Given the description of an element on the screen output the (x, y) to click on. 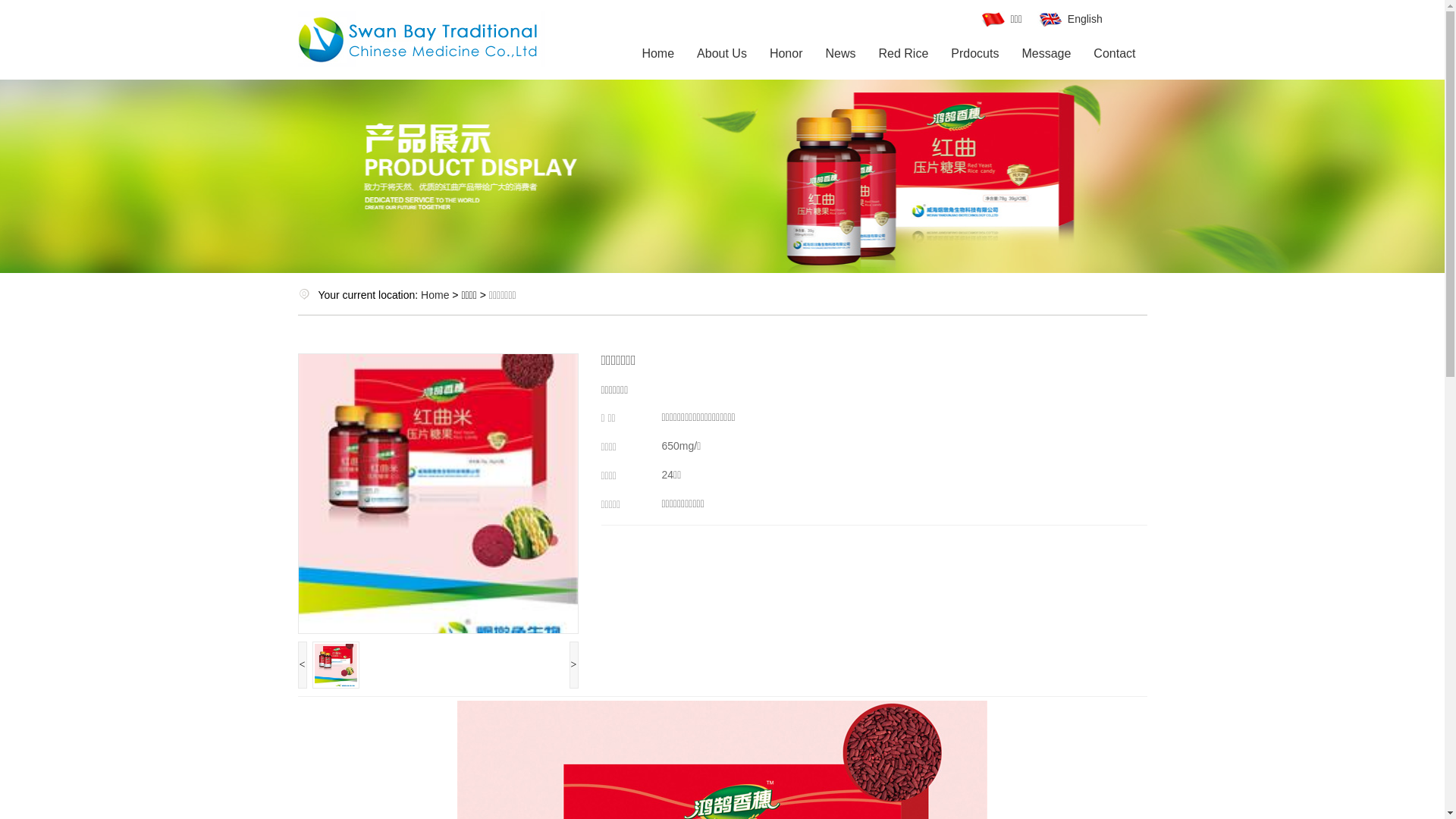
< Element type: text (301, 664)
Honor Element type: text (786, 53)
About Us Element type: text (721, 53)
News Element type: text (840, 53)
Message Element type: text (1045, 53)
RED RICE Element type: text (420, 113)
Home Element type: text (434, 294)
Prdocuts Element type: text (974, 53)
Home Element type: text (657, 53)
Red Rice Element type: text (903, 53)
> Element type: text (572, 664)
Contact Element type: text (1114, 53)
English Element type: text (1069, 18)
